Given the description of an element on the screen output the (x, y) to click on. 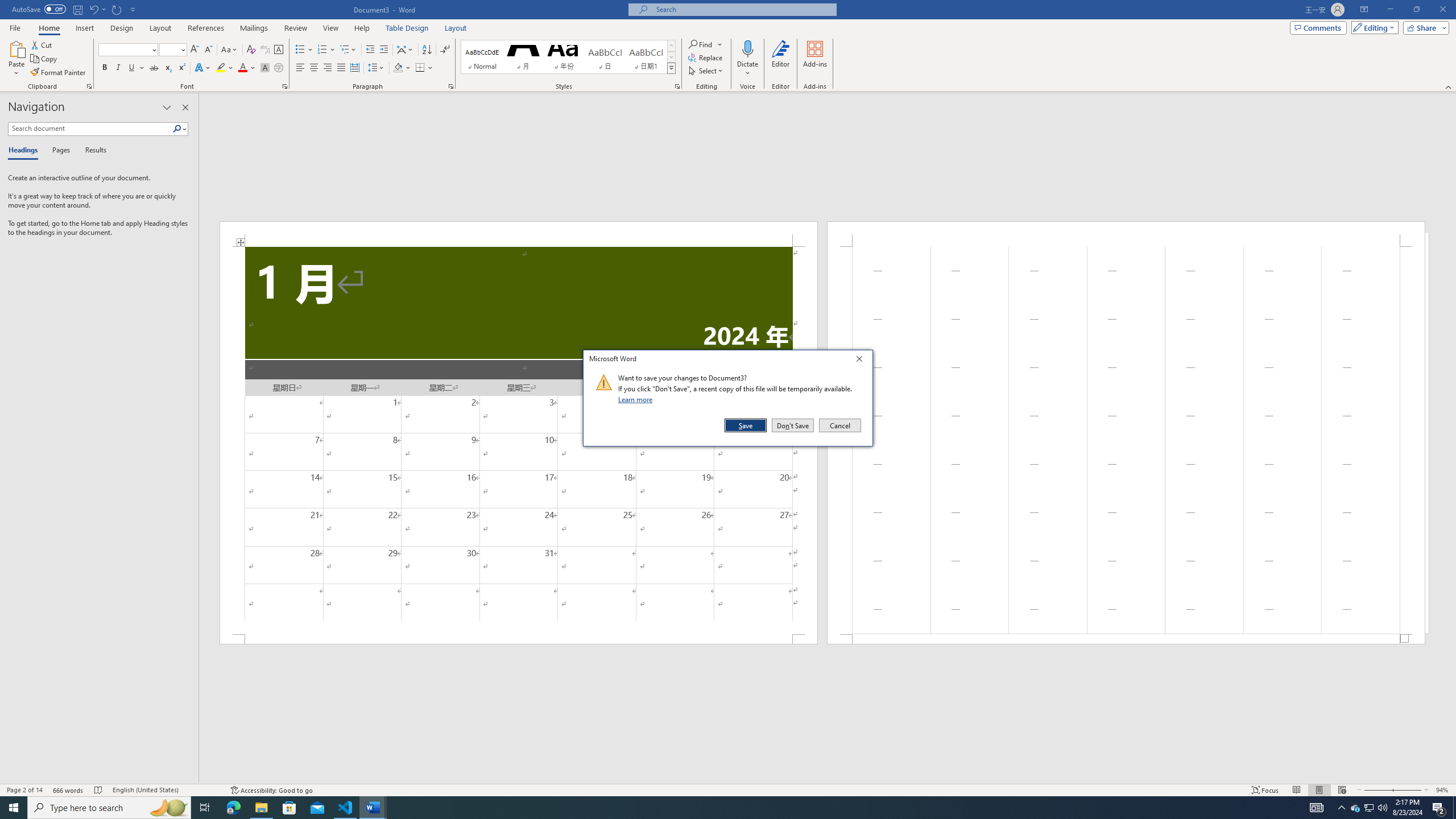
Repeat Style (117, 9)
